Given the description of an element on the screen output the (x, y) to click on. 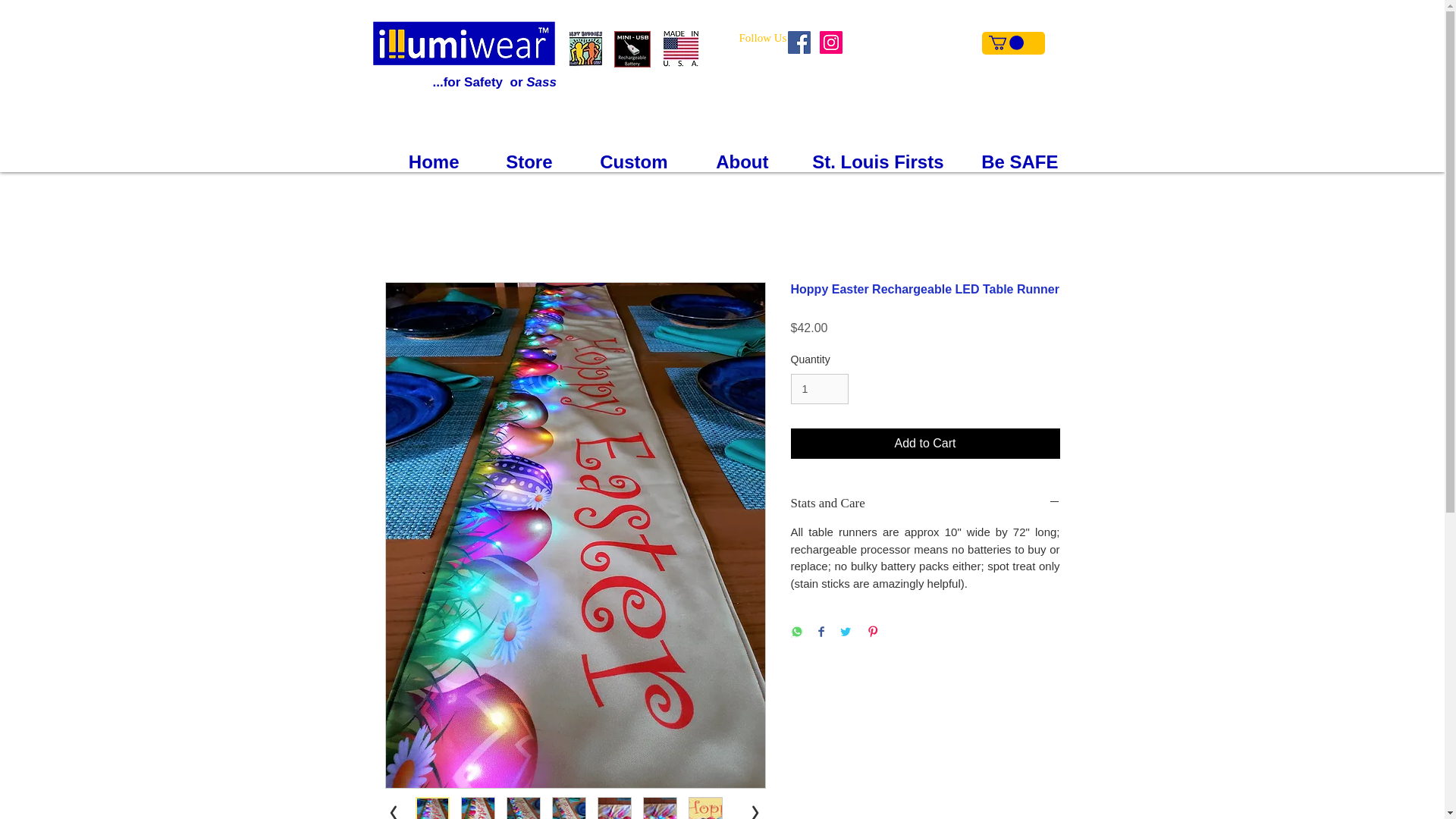
Home (420, 160)
Be SAFE (1012, 160)
Store (516, 160)
Stats and Care (924, 503)
About (729, 160)
Add to Cart (924, 443)
1 (818, 388)
Custom (621, 160)
St. Louis Firsts (866, 160)
